Given the description of an element on the screen output the (x, y) to click on. 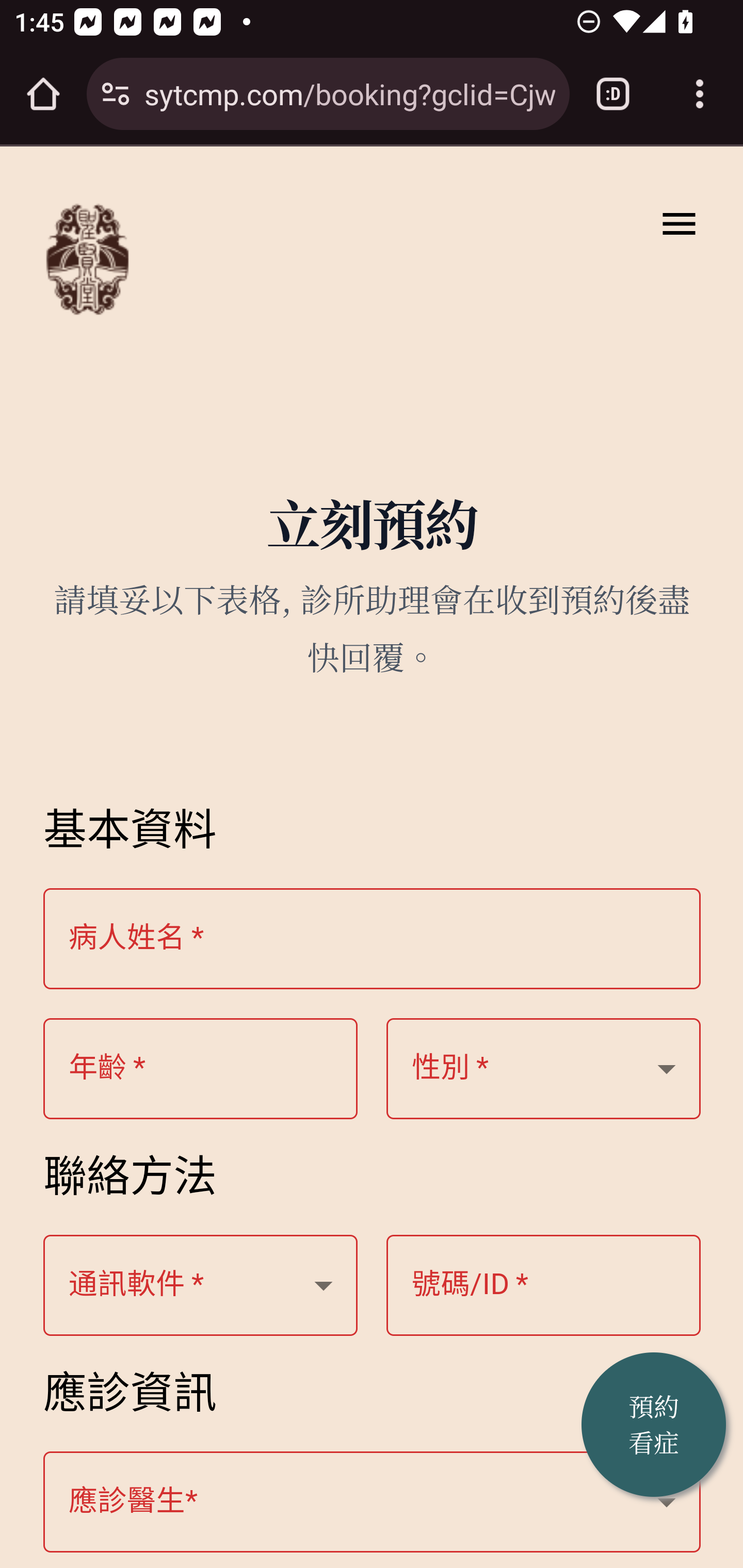
Open the home page (43, 93)
Connection is secure (115, 93)
Switch or close tabs (612, 93)
Customize and control Google Chrome (699, 93)
年齡 性別 號碼/ID (200, 1069)
年齡 (544, 1069)
通訊軟件 ​ (200, 1286)
​ (372, 1502)
